Given the description of an element on the screen output the (x, y) to click on. 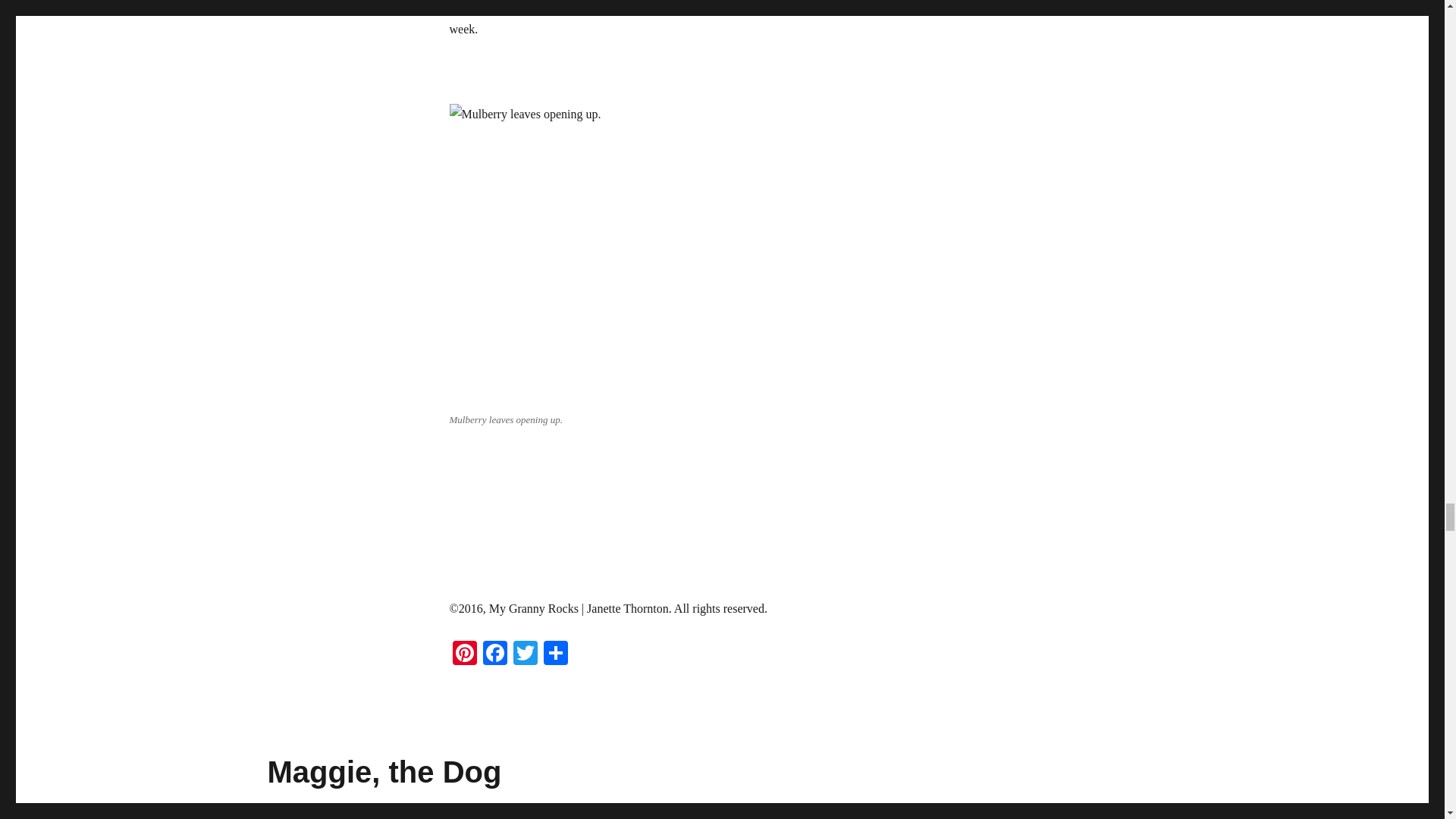
Twitter (524, 654)
Facebook (494, 654)
Pinterest (463, 654)
